Given the description of an element on the screen output the (x, y) to click on. 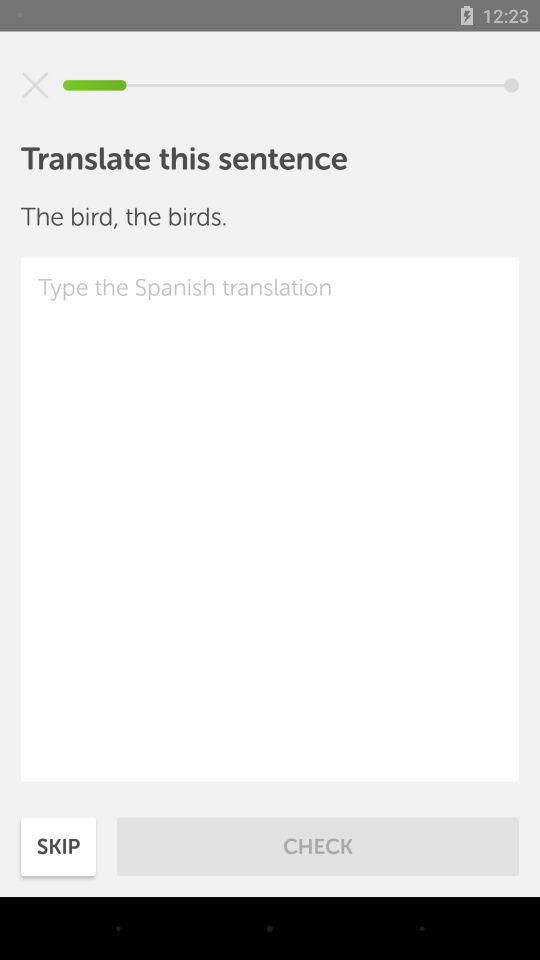
turn off the skip (58, 846)
